Given the description of an element on the screen output the (x, y) to click on. 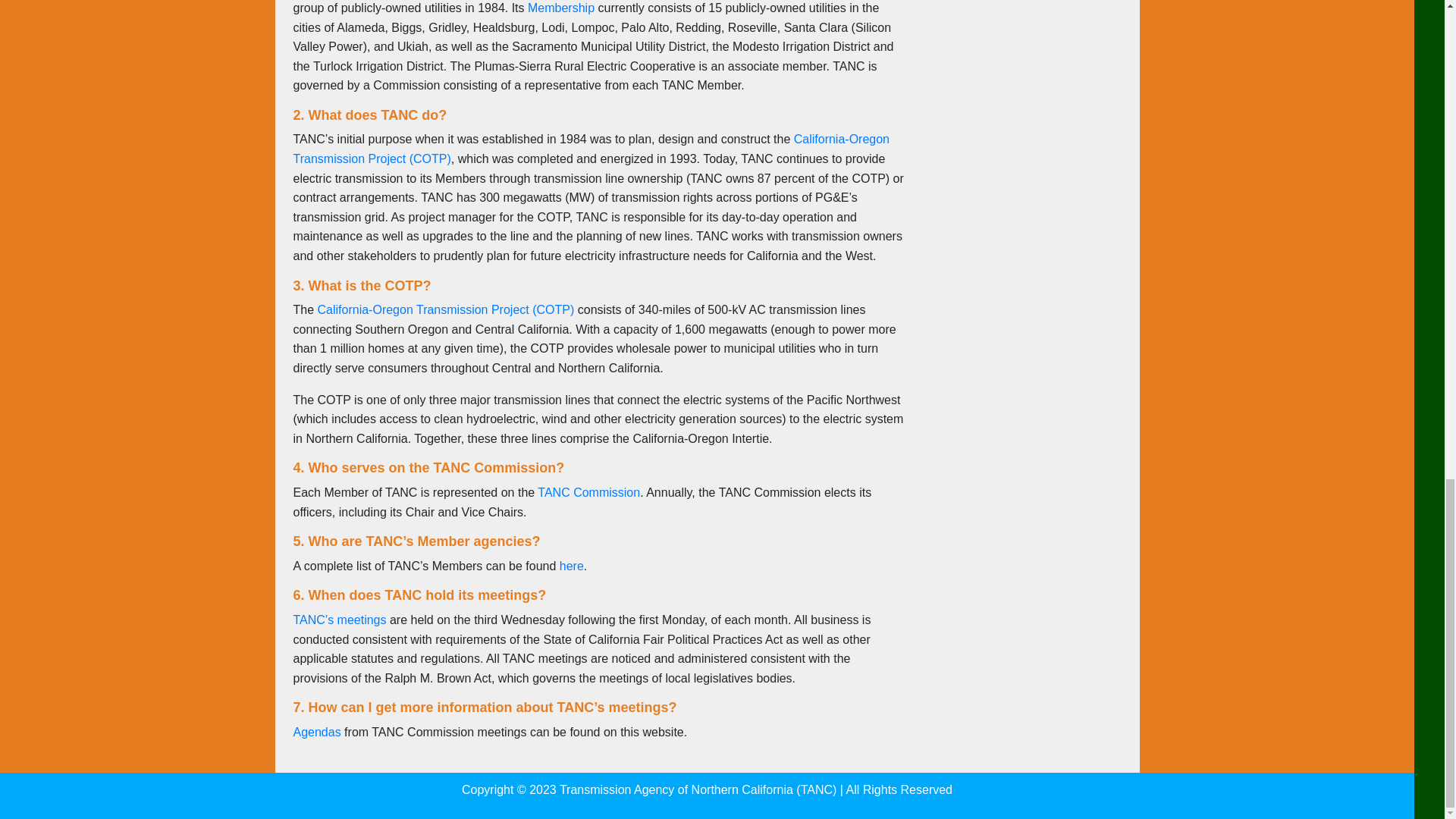
here (571, 565)
TANC Commission (588, 492)
Membership (560, 7)
